Given the description of an element on the screen output the (x, y) to click on. 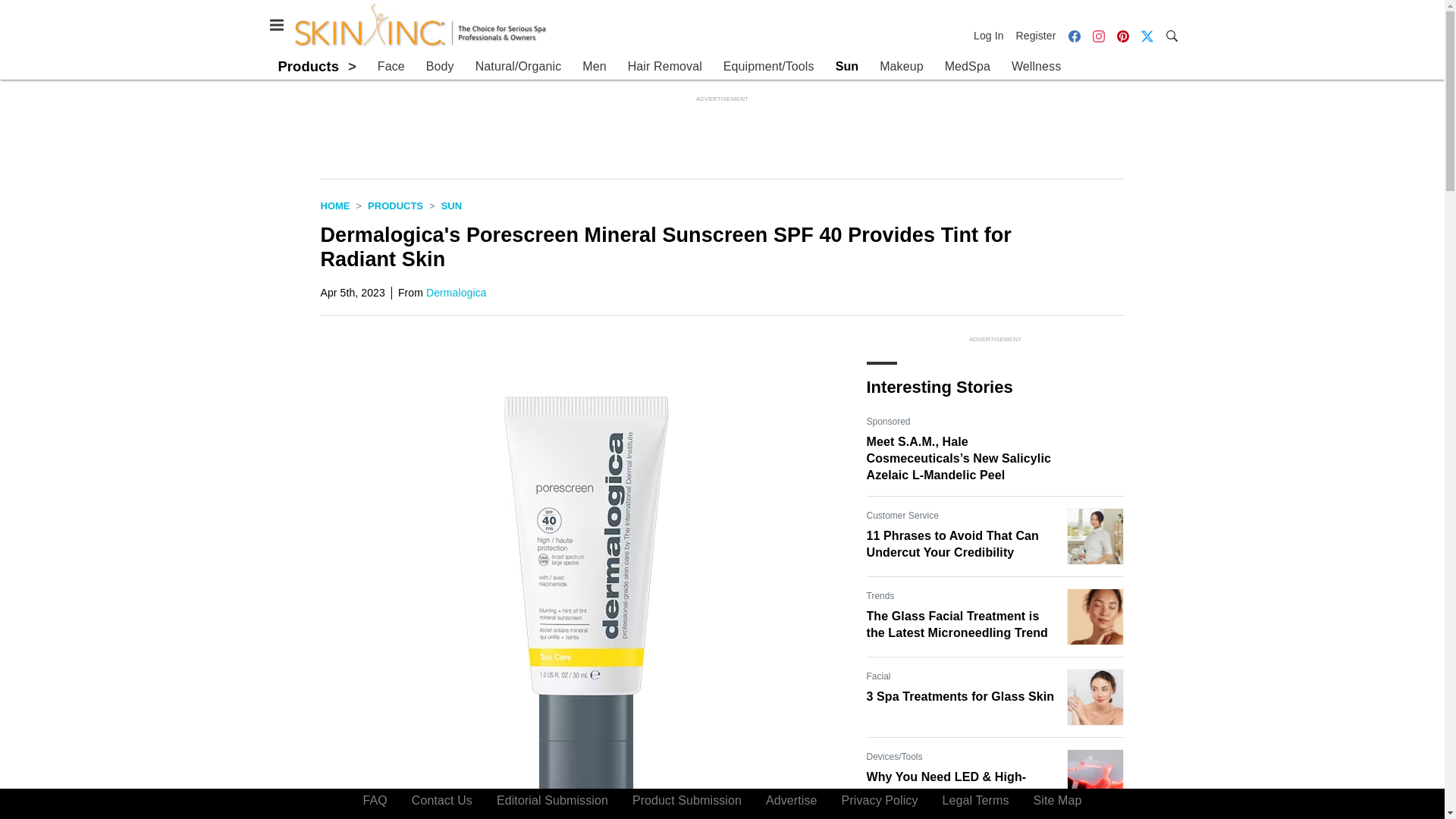
Products (308, 65)
Men (593, 66)
Facebook icon (1073, 35)
Pinterest icon (1121, 35)
Instagram icon (1097, 35)
Products (395, 205)
Face (390, 66)
Sun (847, 66)
Home (334, 205)
Pinterest icon (1122, 36)
